Given the description of an element on the screen output the (x, y) to click on. 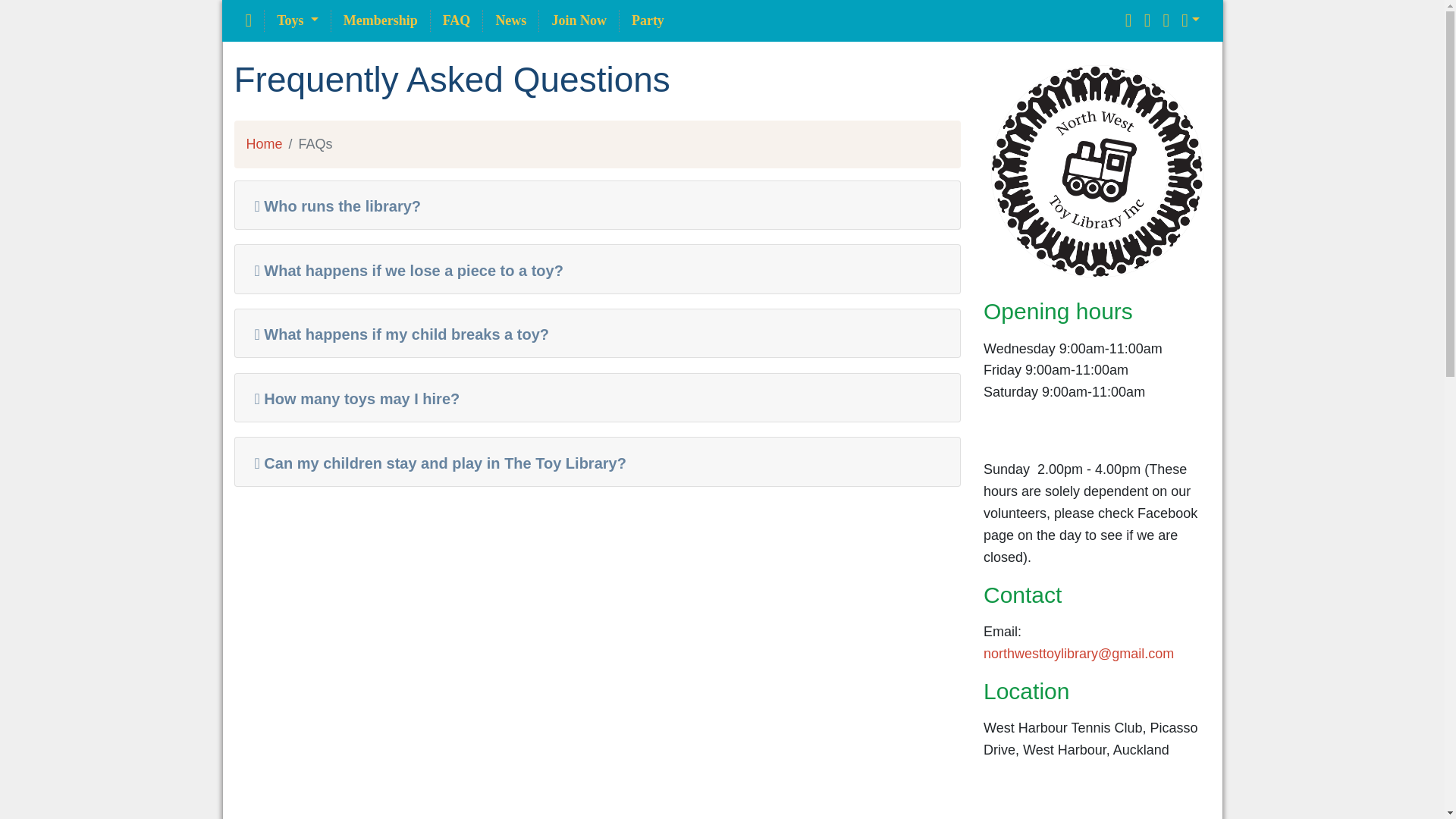
Membership (380, 20)
What happens if we lose a piece to a toy? (403, 270)
Join Now (579, 20)
FAQ (456, 20)
Go to Home Page Public (1097, 169)
Who runs the library? (332, 205)
Home (264, 143)
Toys (297, 20)
How many toys may I hire? (352, 398)
News (510, 20)
Can my children stay and play in The Toy Library? (435, 462)
What happens if my child breaks a toy? (396, 334)
Send us an email (1078, 653)
Party (648, 20)
